Given the description of an element on the screen output the (x, y) to click on. 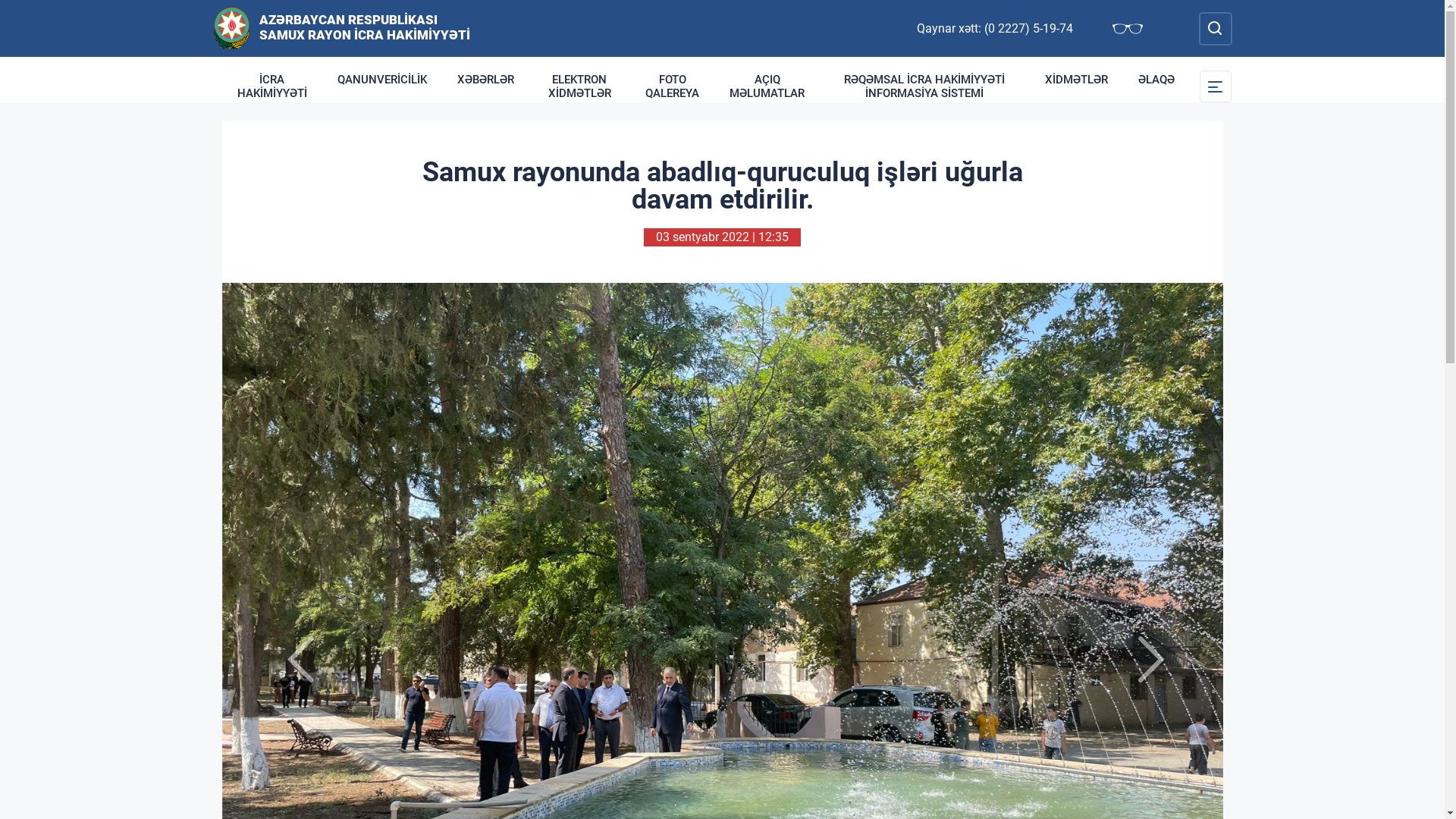
FOTO QALEREYA Element type: text (672, 86)
QANUNVERICILIK Element type: text (381, 79)
